Given the description of an element on the screen output the (x, y) to click on. 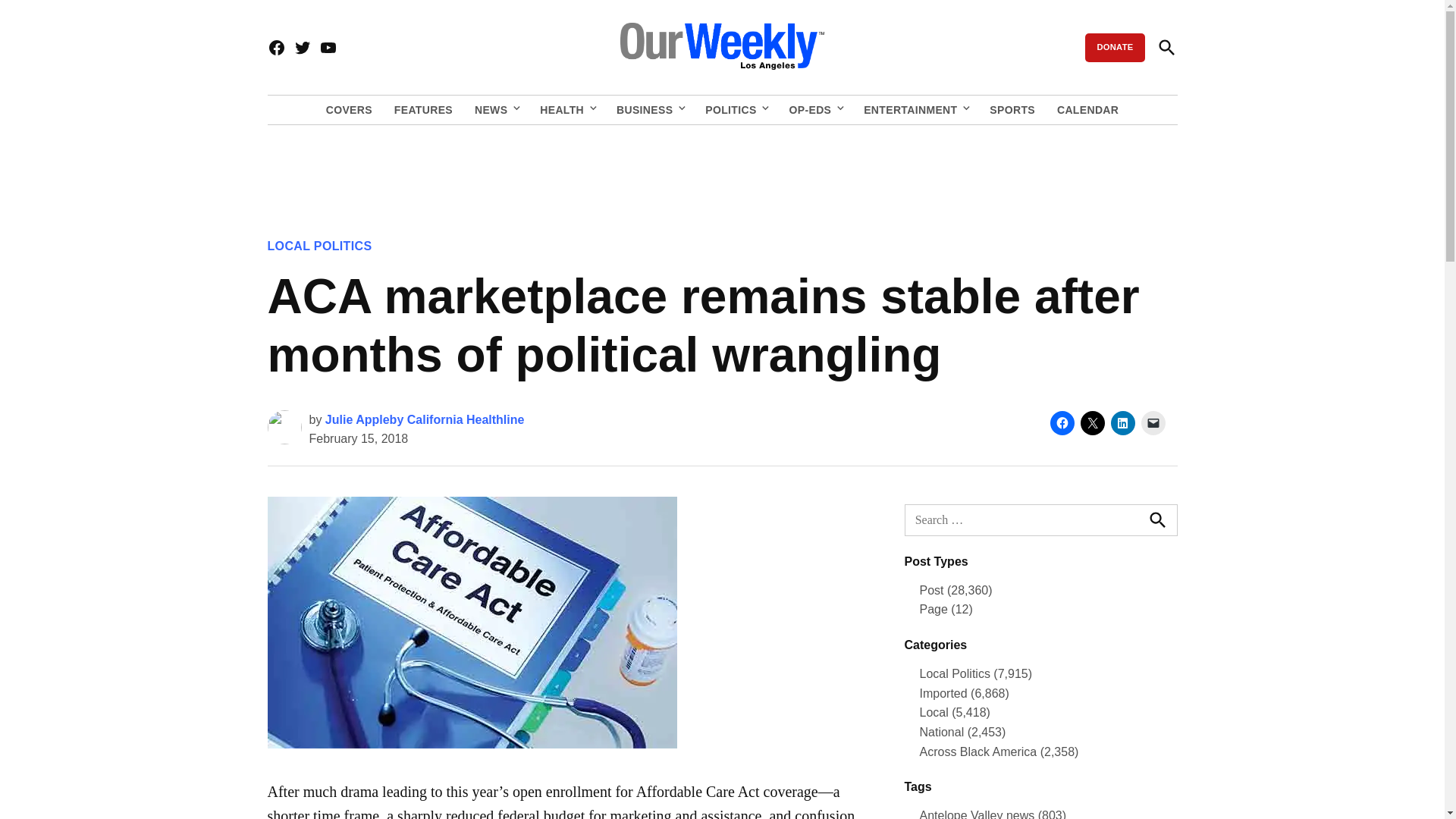
Click to share on LinkedIn (1121, 422)
3rd party ad content (721, 171)
Click to share on Facebook (1061, 422)
Click to share on X (1091, 422)
Click to email a link to a friend (1152, 422)
